Given the description of an element on the screen output the (x, y) to click on. 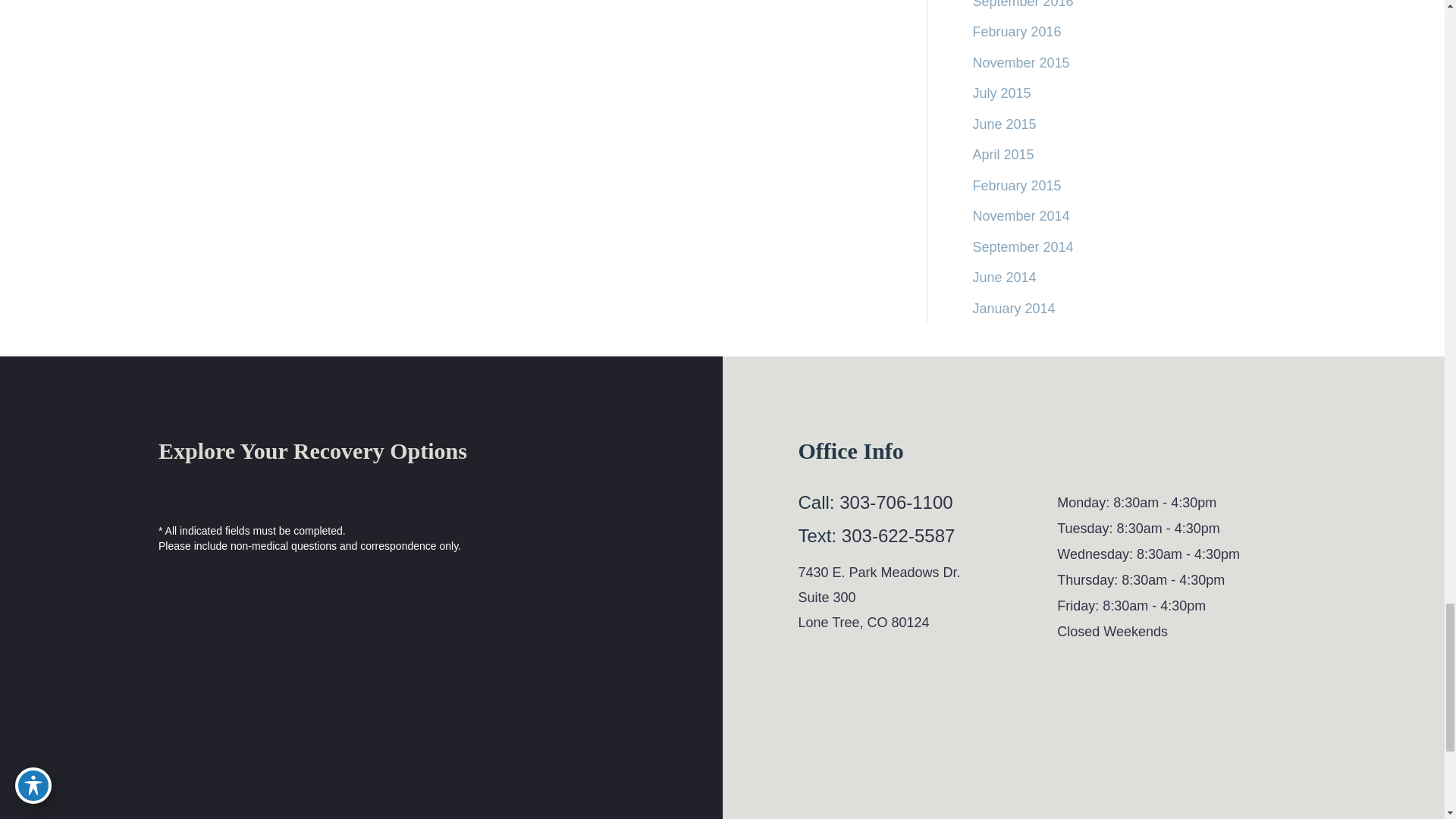
Map Location (1041, 776)
